Given the description of an element on the screen output the (x, y) to click on. 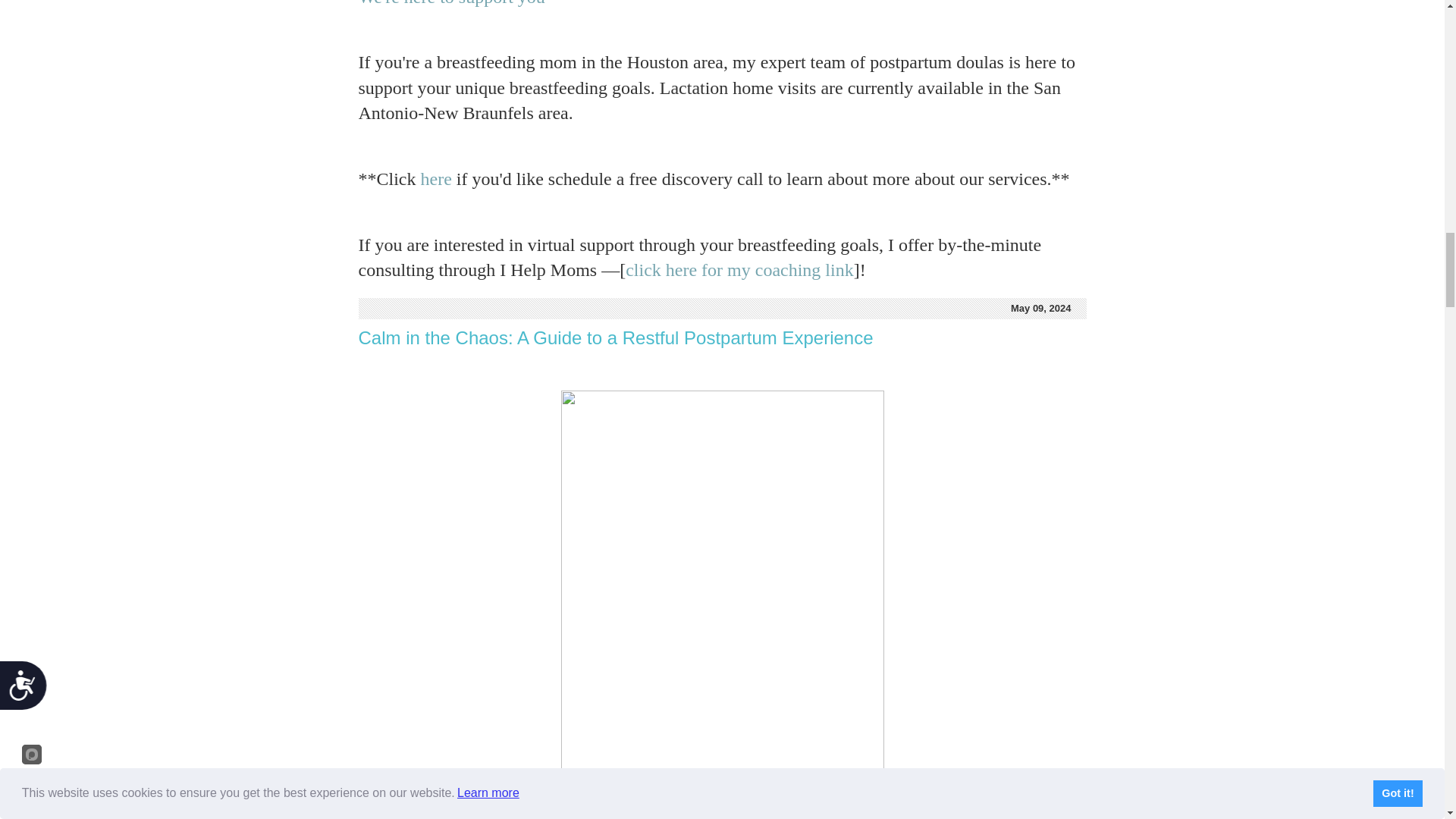
click here for my coaching link (739, 270)
here (435, 178)
